Given the description of an element on the screen output the (x, y) to click on. 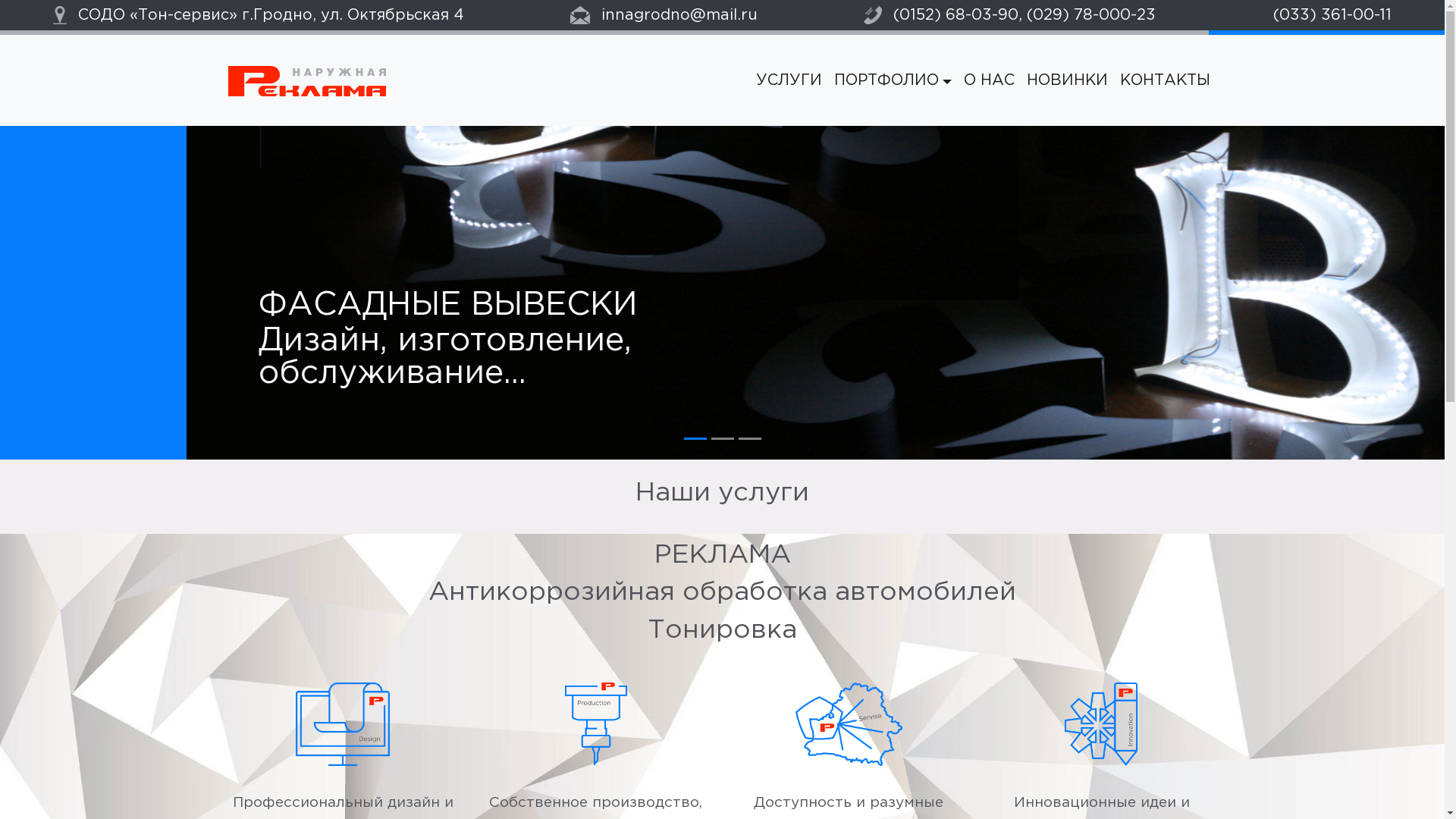
(033) 361-00-11 Element type: text (1326, 17)
innagrodno@mail.ru Element type: text (663, 17)
(0152) 68-03-90, (029) 78-000-23 Element type: text (1009, 17)
